Given the description of an element on the screen output the (x, y) to click on. 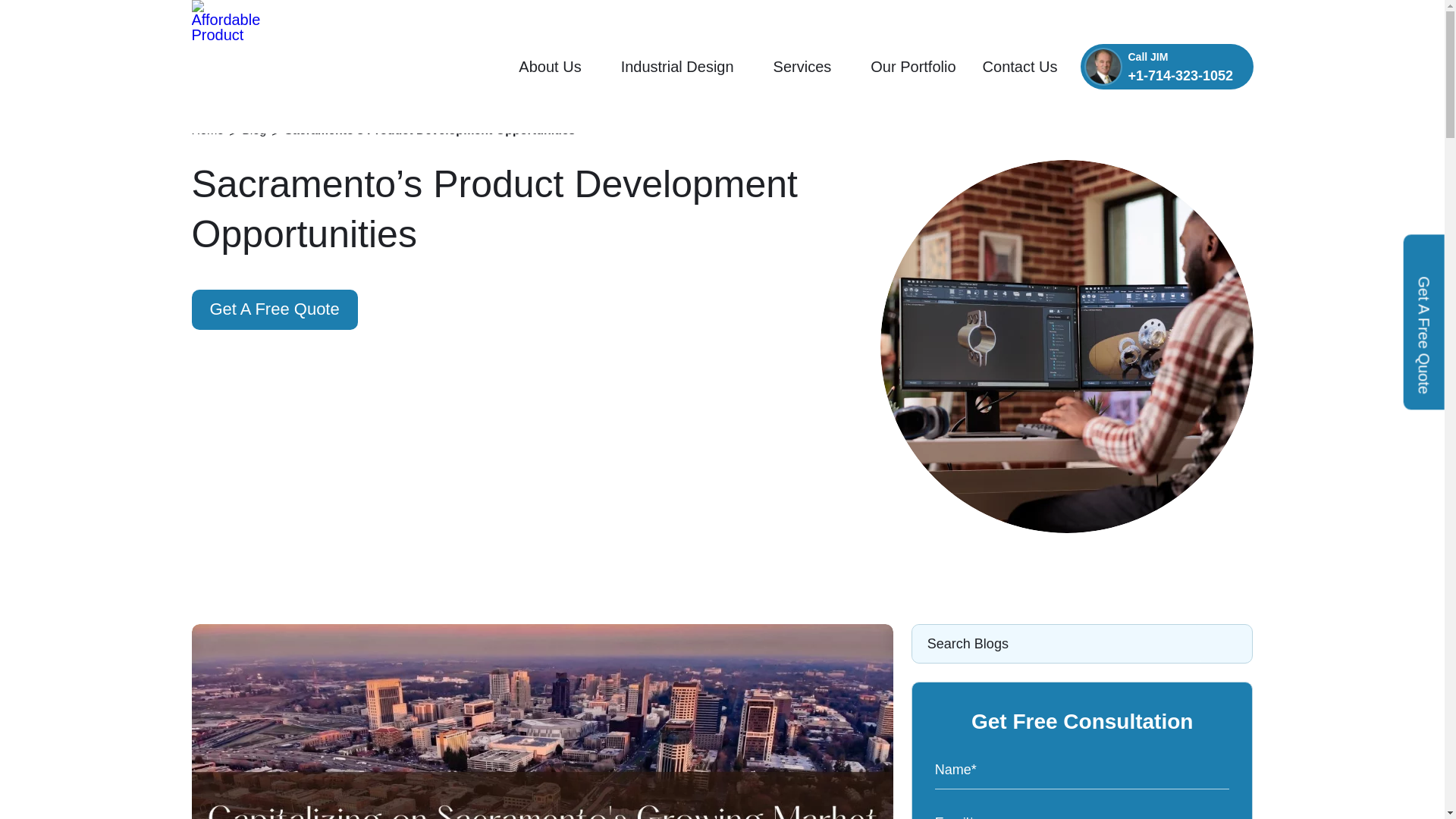
About Us (556, 66)
Home (215, 129)
Get A Free Quote (273, 309)
Our Portfolio (912, 66)
GID Company (228, 125)
Industrial Design (683, 66)
Contact Us (1020, 66)
Call-JIM - GID Company (1103, 66)
Services (808, 66)
